Given the description of an element on the screen output the (x, y) to click on. 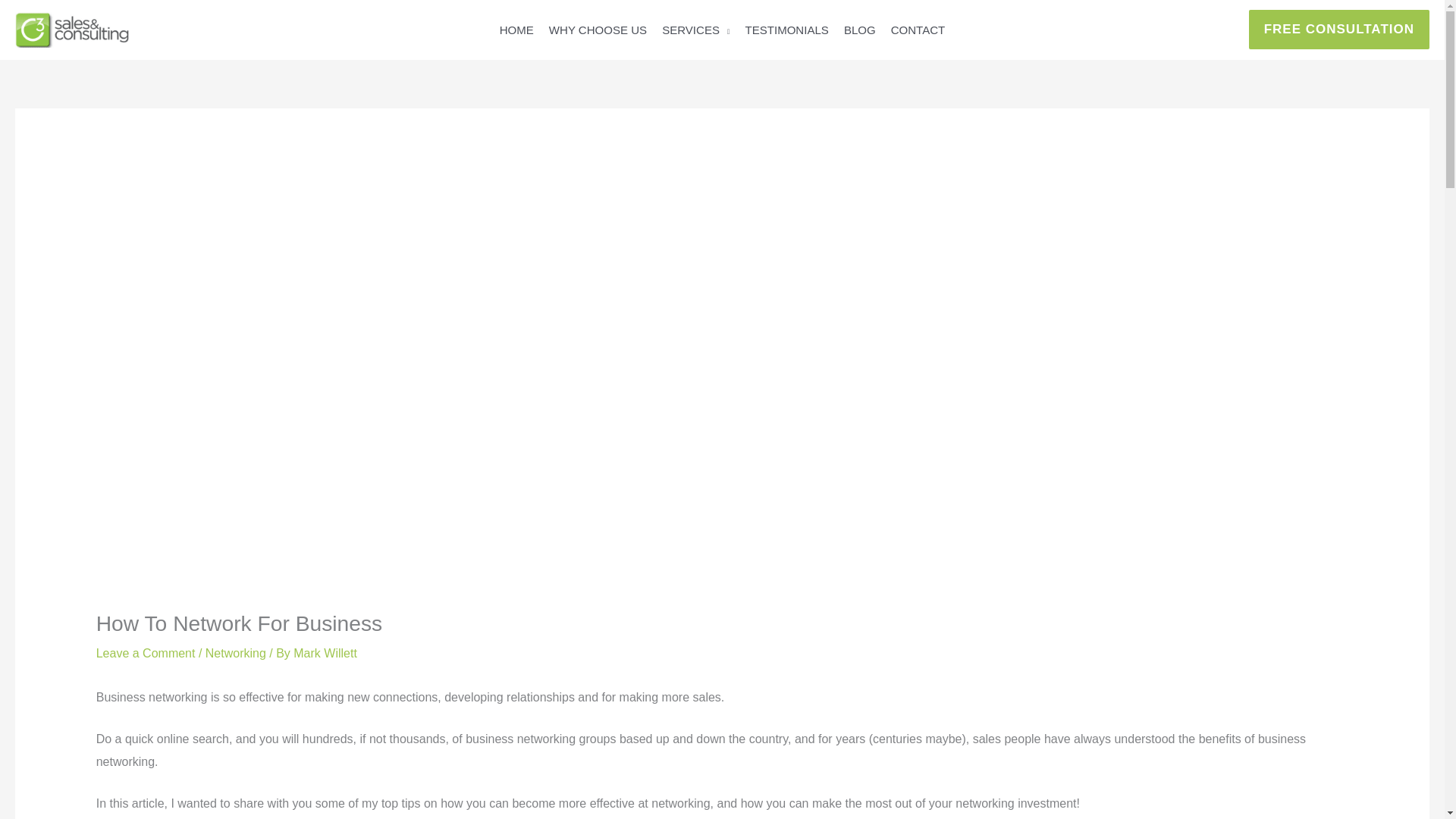
CONTACT (918, 31)
Leave a Comment (145, 653)
WHY CHOOSE US (597, 31)
Networking (235, 653)
SERVICES (694, 31)
Mark Willett (325, 653)
TESTIMONIALS (785, 31)
HOME (516, 31)
View all posts by Mark Willett (325, 653)
BLOG (859, 31)
